Given the description of an element on the screen output the (x, y) to click on. 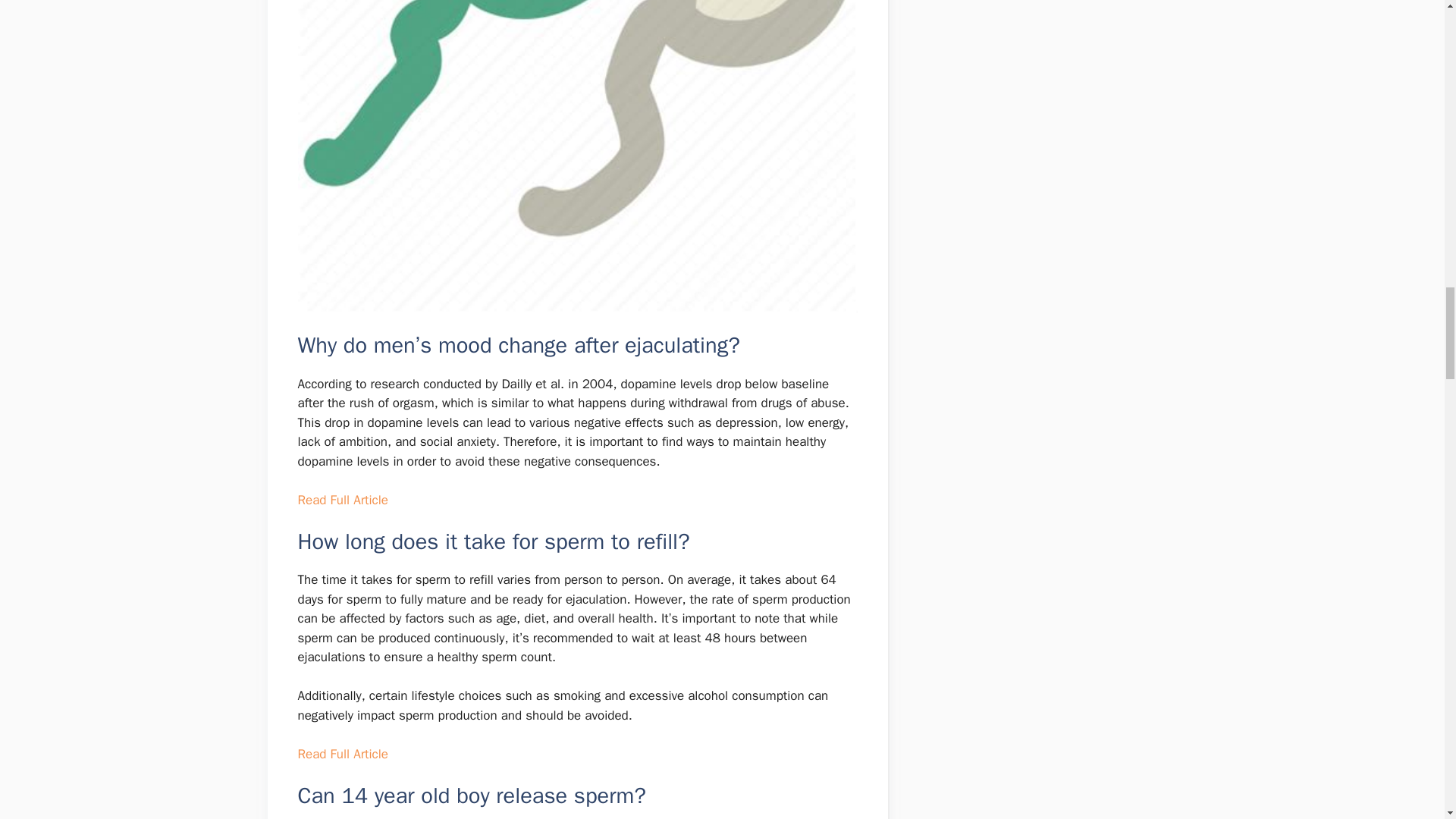
Read Full Article (342, 499)
Read Full Article (342, 754)
